Given the description of an element on the screen output the (x, y) to click on. 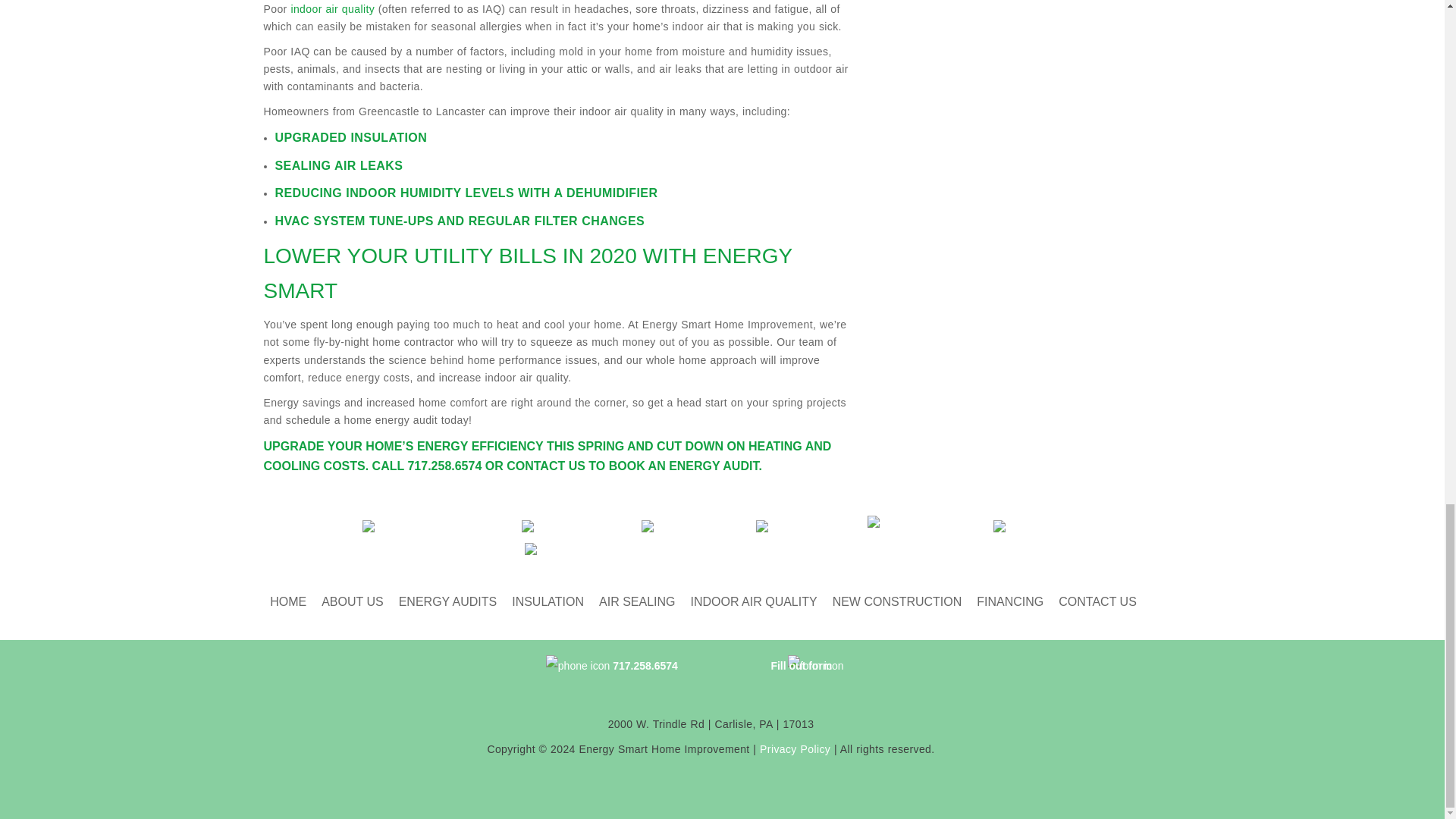
CONTACT US (545, 465)
Greater Carlisle (564, 526)
Building Performance Association (710, 549)
Home Advisor (794, 526)
indoor air quality (331, 9)
Angie's List (1025, 526)
Efficiency First (682, 526)
PA Home Energy (913, 526)
717.258.6574 (444, 465)
